Given the description of an element on the screen output the (x, y) to click on. 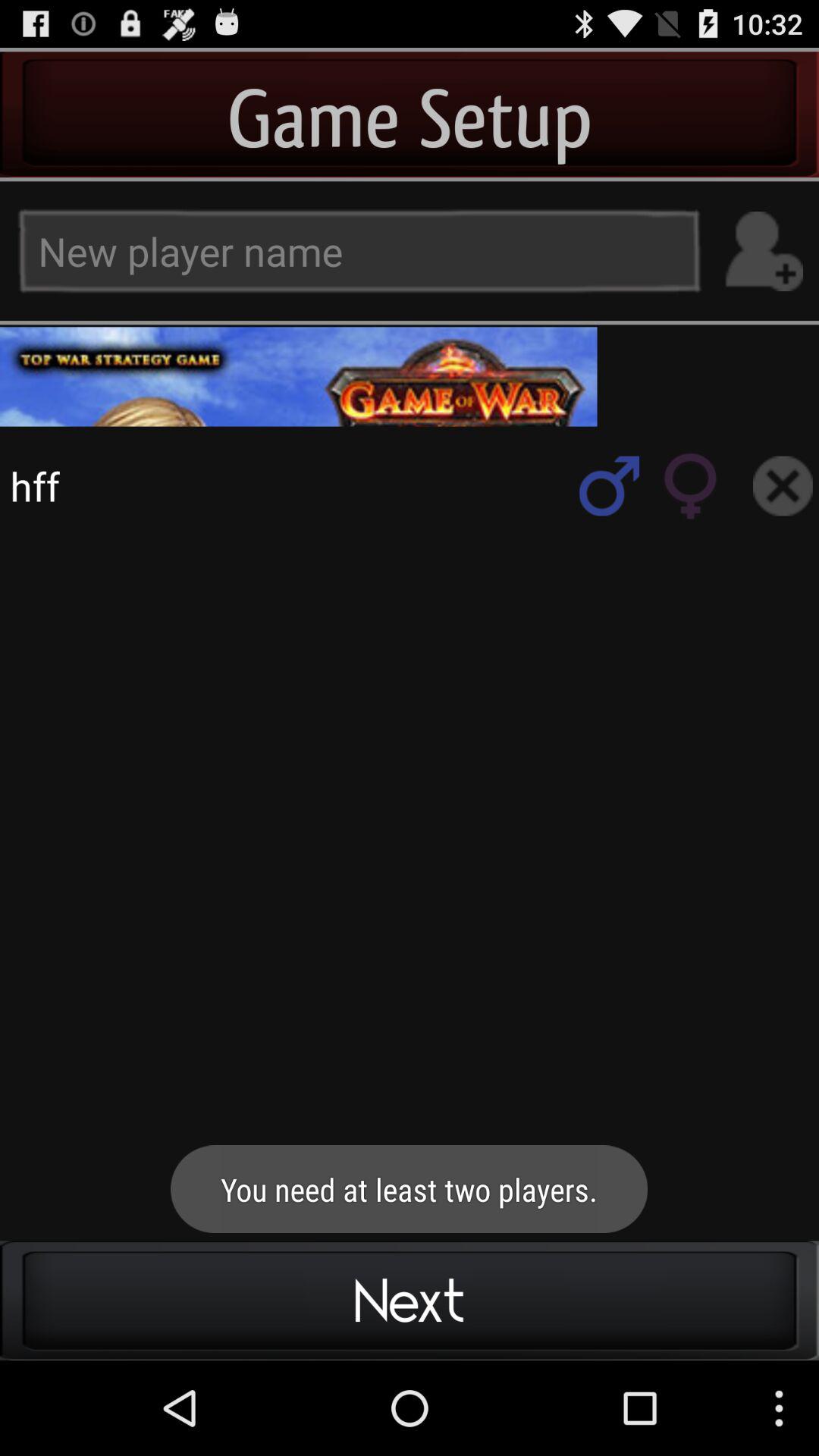
select male option (609, 485)
